Given the description of an element on the screen output the (x, y) to click on. 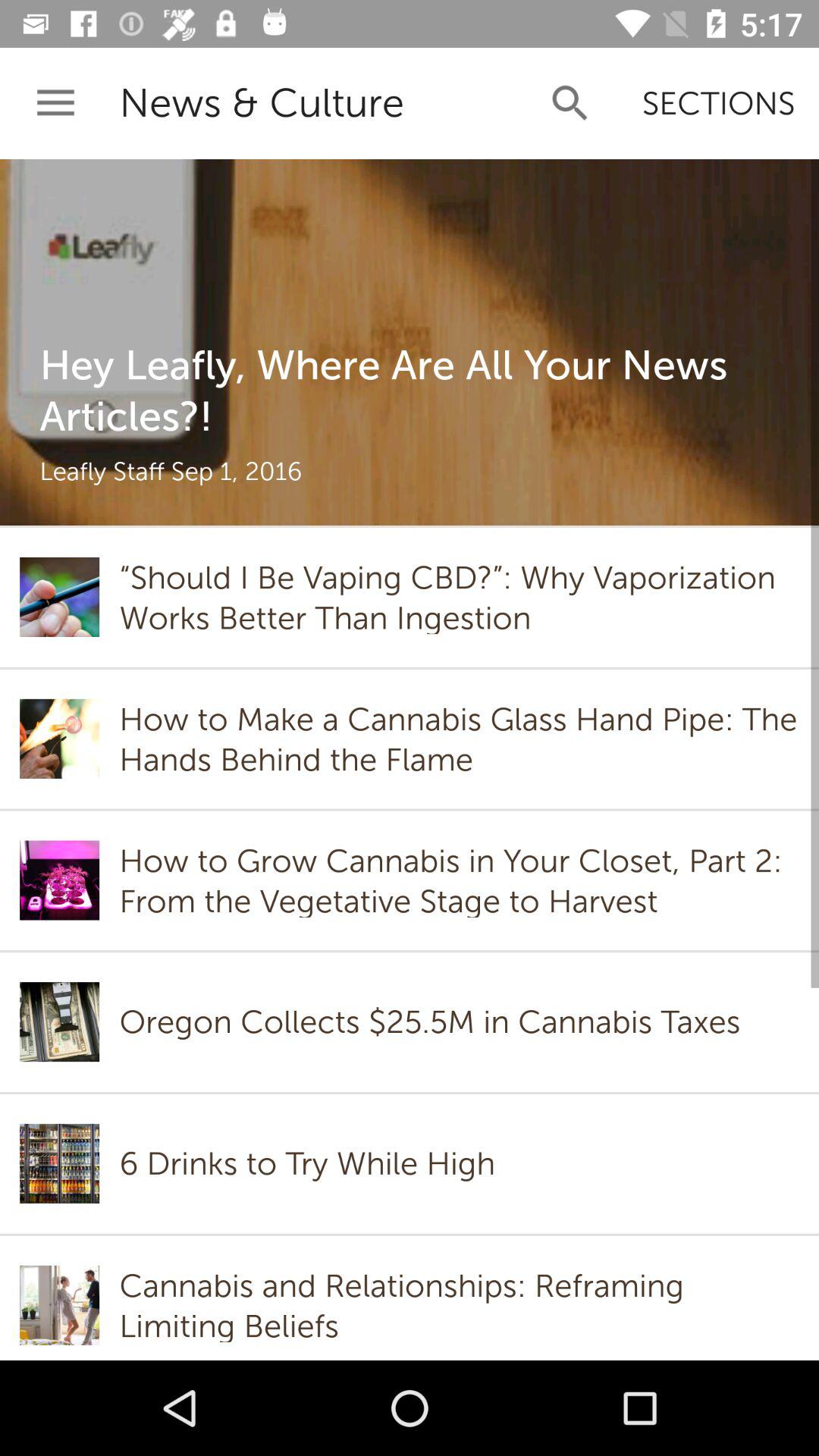
scroll until sections (718, 103)
